Given the description of an element on the screen output the (x, y) to click on. 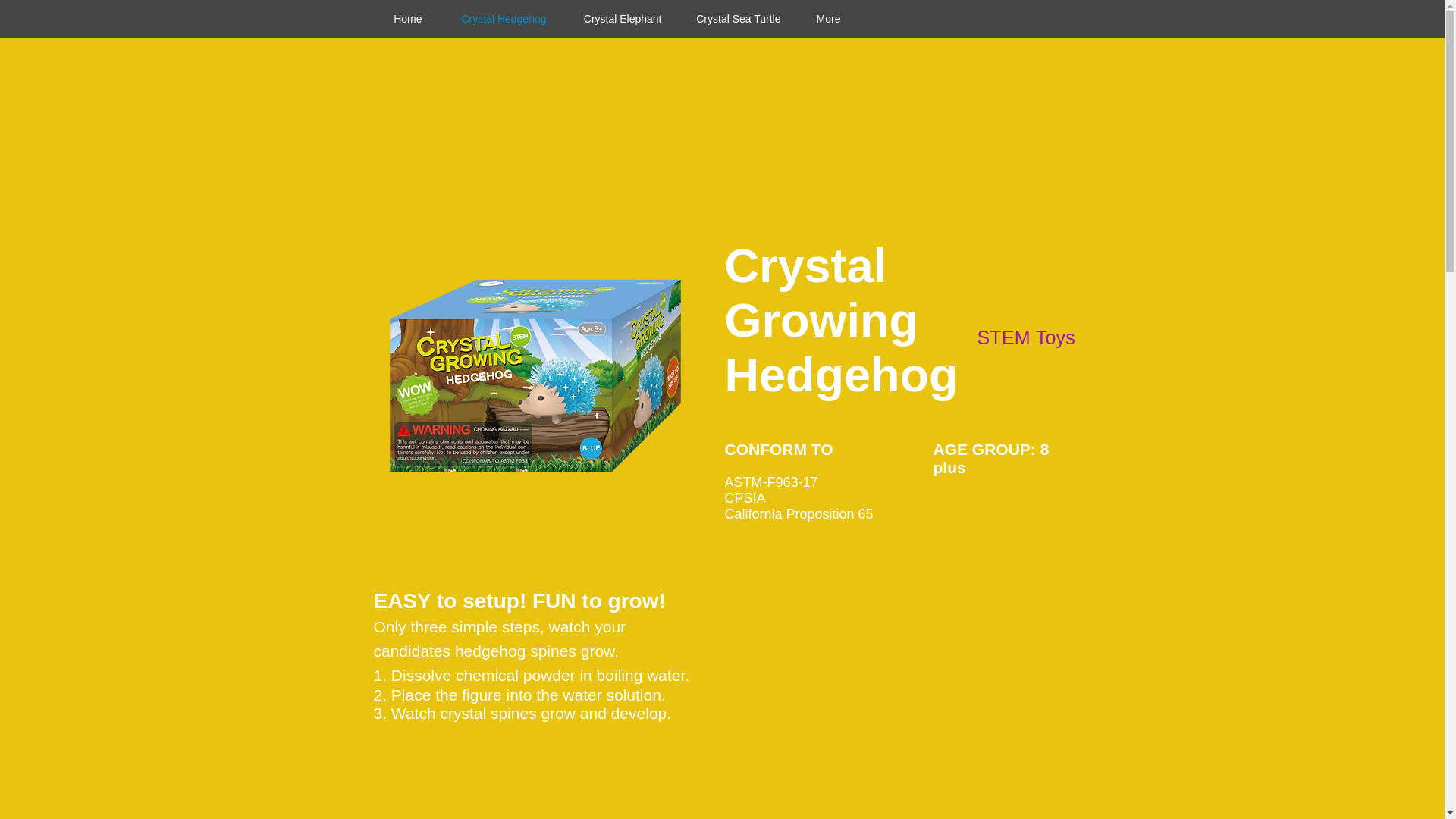
Crystal Sea Turtle (735, 18)
Crystal Elephant (618, 18)
Home (403, 18)
Crystal Hedgehog (498, 18)
